Given the description of an element on the screen output the (x, y) to click on. 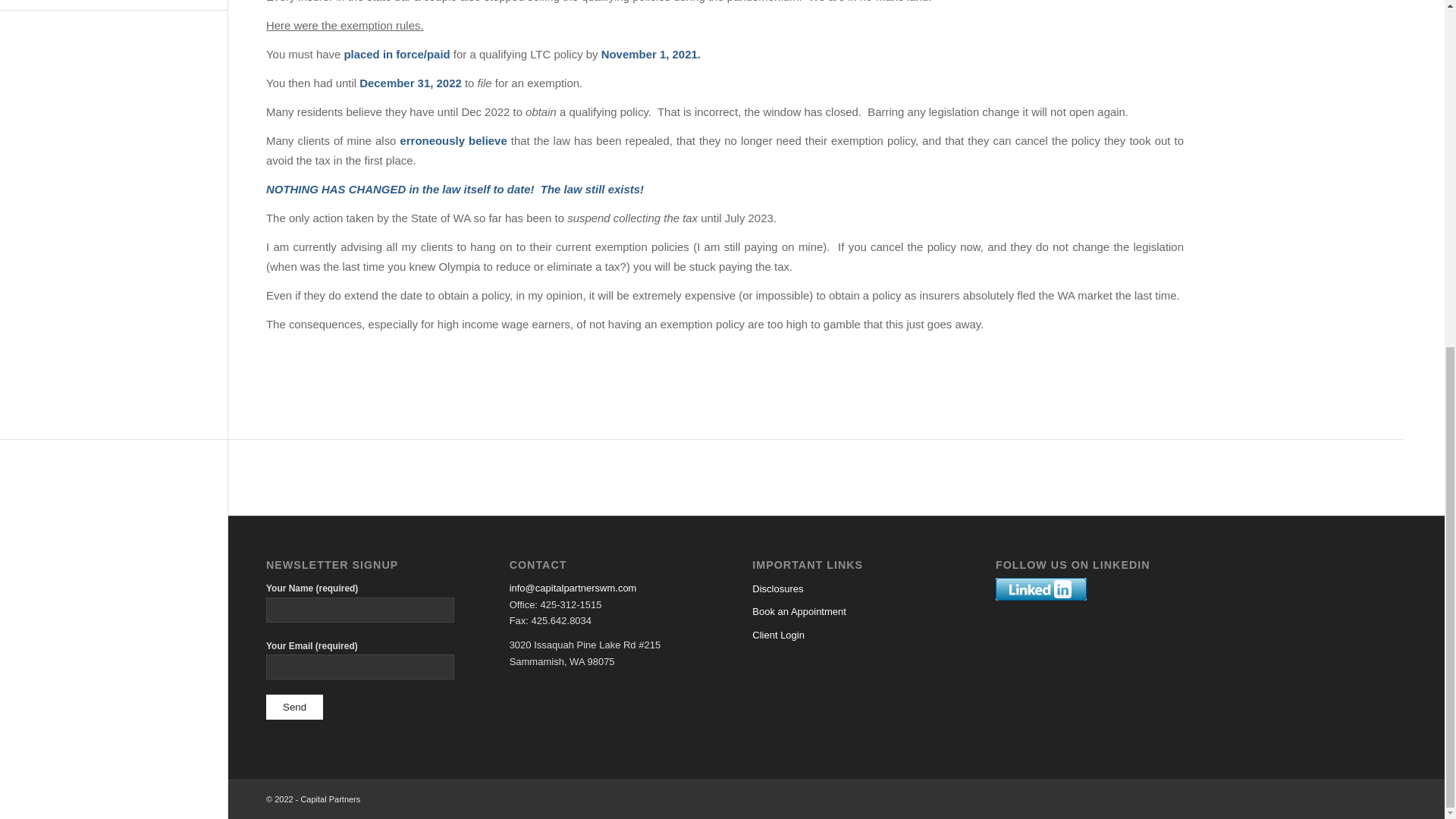
Send (294, 706)
Disclosures (846, 589)
Send (294, 706)
Book an Appointment (846, 611)
Client Login (846, 635)
